Given the description of an element on the screen output the (x, y) to click on. 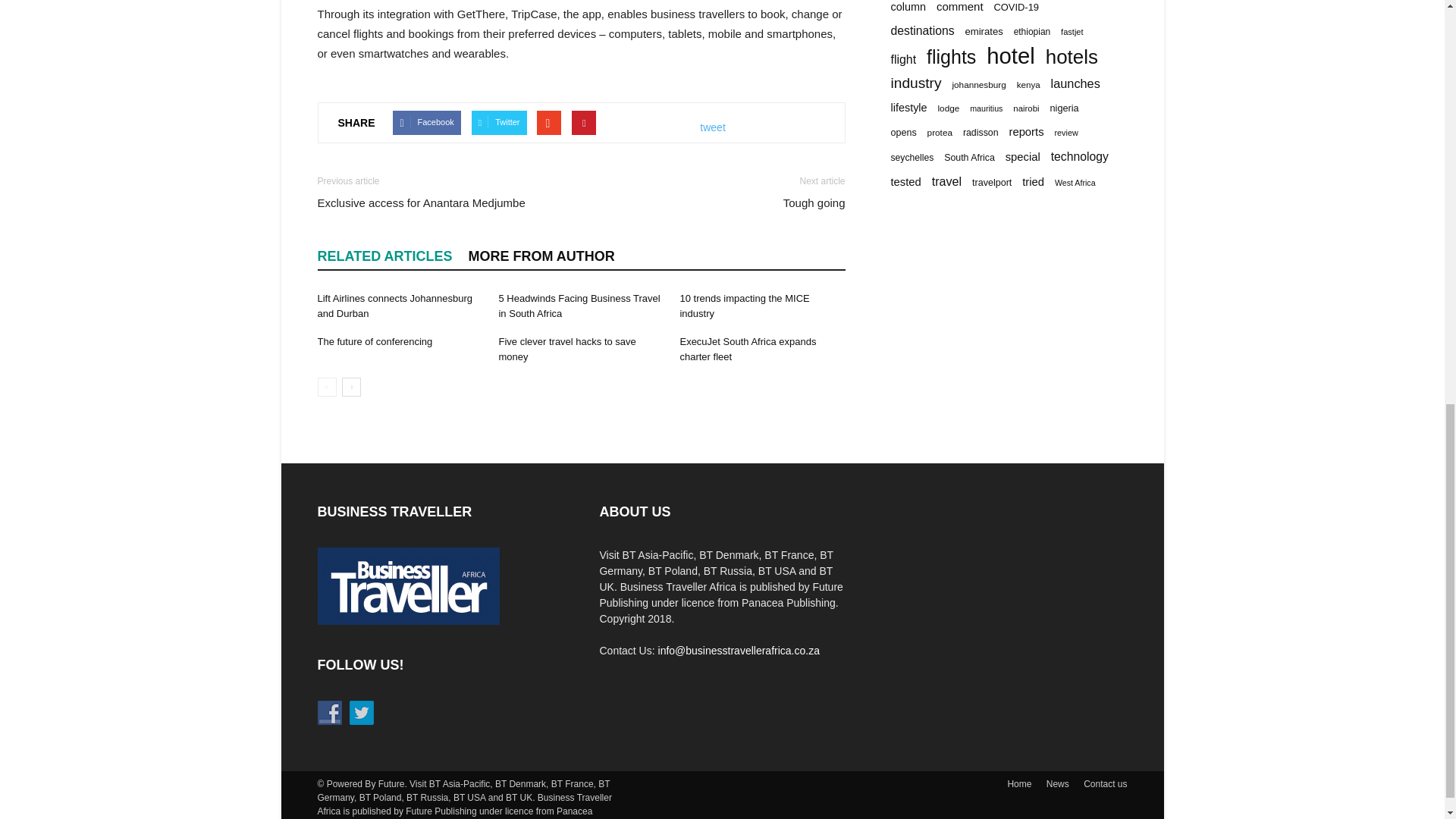
Lift Airlines connects Johannesburg and Durban (394, 305)
5 Headwinds Facing Business Travel in South Africa (578, 305)
Five clever travel hacks to save money (565, 348)
The future of conferencing (374, 341)
10 trends impacting the MICE industry (744, 305)
ExecuJet South Africa expands charter fleet (747, 348)
